Given the description of an element on the screen output the (x, y) to click on. 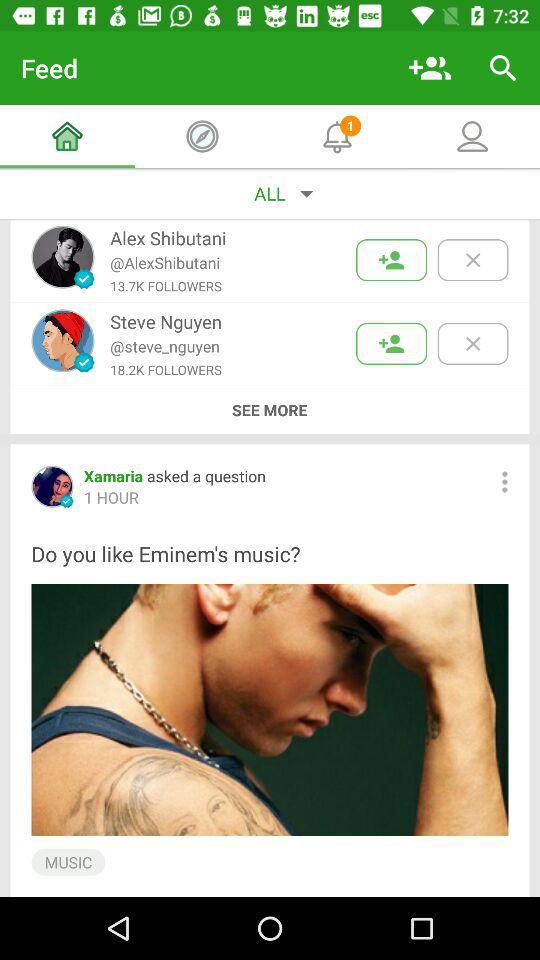
select item to the right of the feed app (429, 67)
